Given the description of an element on the screen output the (x, y) to click on. 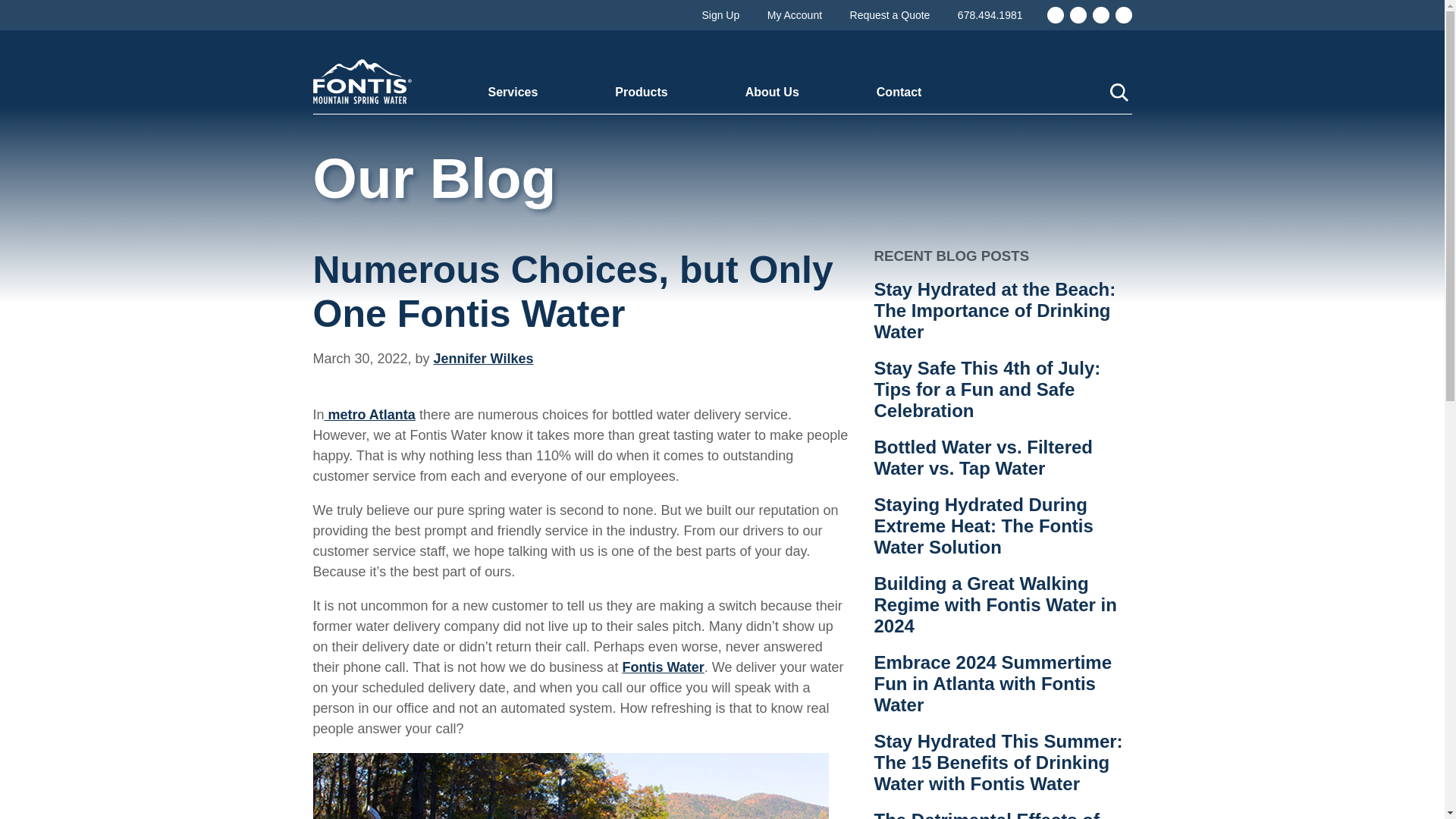
Sign Up (720, 15)
Twitter (1123, 14)
Facebook (1054, 14)
LinkedIn (1100, 14)
My Account (794, 15)
Request a Quote (890, 15)
Instagram (1077, 14)
Posts by Jennifer Wilkes (483, 358)
Search (1118, 92)
Search (1118, 92)
678.494.1981 (990, 15)
